Given the description of an element on the screen output the (x, y) to click on. 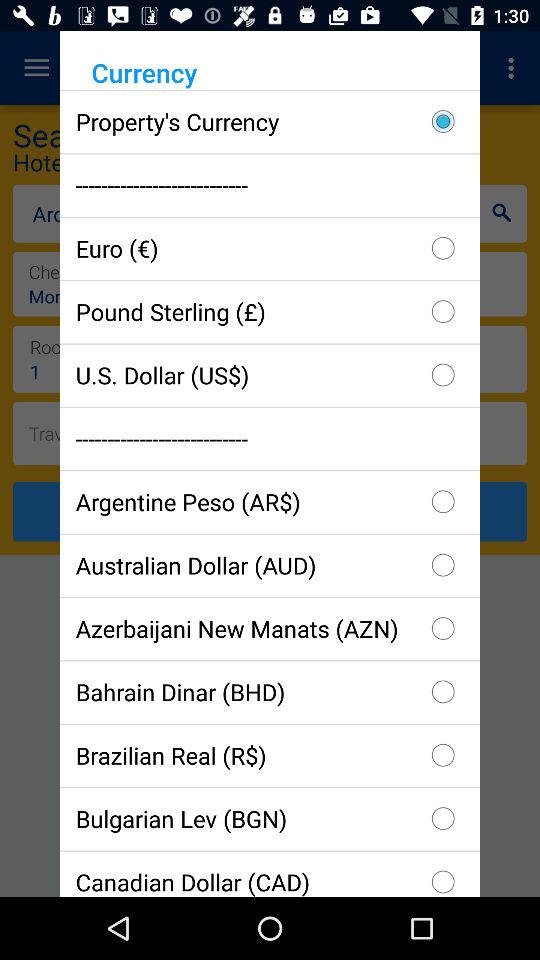
launch item below the --------------------------- checkbox (270, 248)
